Given the description of an element on the screen output the (x, y) to click on. 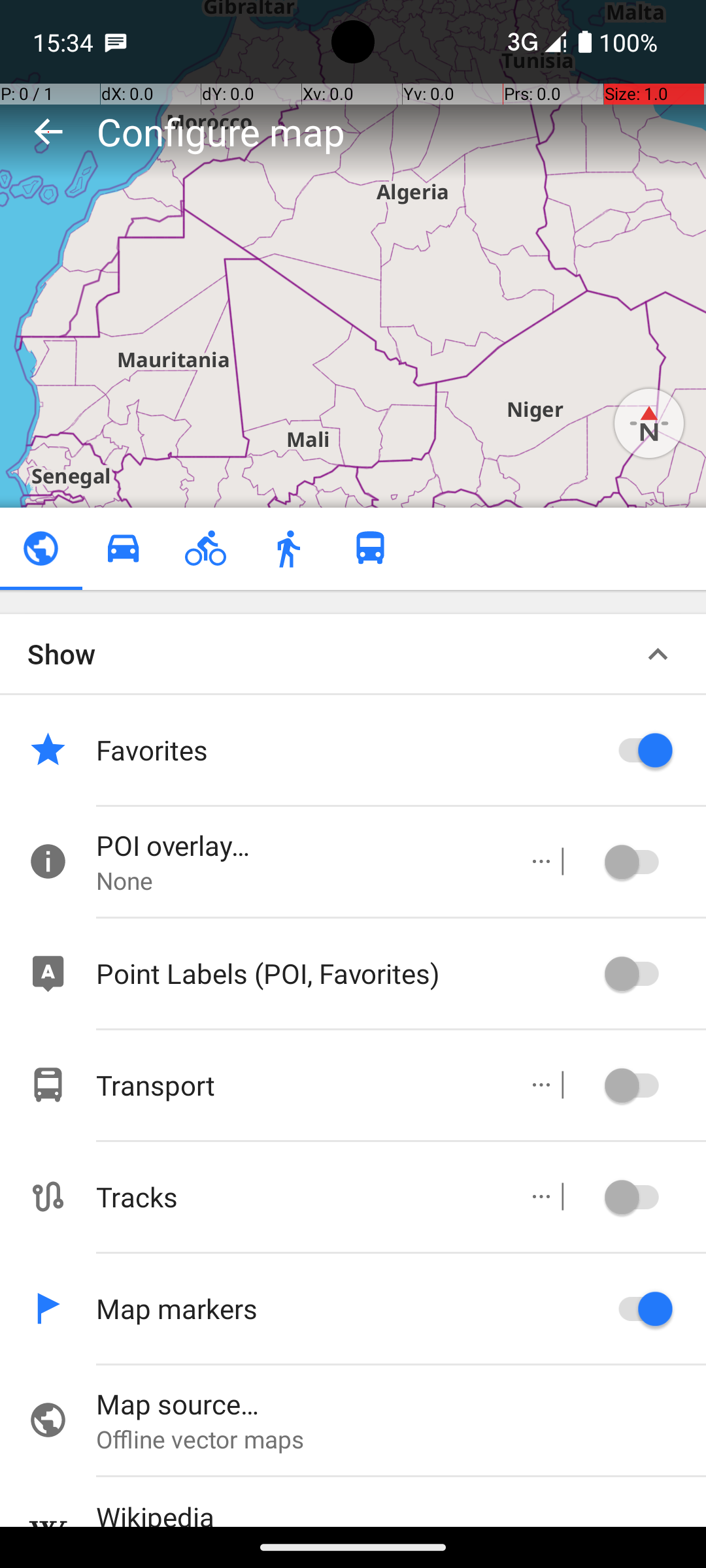
Back to map Element type: android.widget.ImageButton (48, 131)
Configure map Element type: android.widget.TextView (220, 130)
North is up Element type: android.widget.ImageButton (649, 423)
Browse map checked Element type: android.widget.ImageView (40, 548)
Driving unchecked Element type: android.widget.ImageView (122, 548)
Cycling unchecked Element type: android.widget.ImageView (205, 548)
Walking unchecked Element type: android.widget.ImageView (287, 548)
Public transport unchecked Element type: android.widget.ImageView (369, 548)
Show Element type: android.widget.TextView (61, 653)
Favorites Element type: android.widget.TextView (346, 749)
POI overlay… Element type: android.widget.TextView (298, 844)
Point Labels (POI, Favorites) Element type: android.widget.TextView (346, 972)
Transport Element type: android.widget.TextView (298, 1084)
Tracks Element type: android.widget.TextView (298, 1196)
Map markers Element type: android.widget.TextView (346, 1307)
Map source… Element type: android.widget.TextView (401, 1403)
Offline vector maps Element type: android.widget.TextView (401, 1438)
Wikipedia Element type: android.widget.TextView (401, 1512)
